Given the description of an element on the screen output the (x, y) to click on. 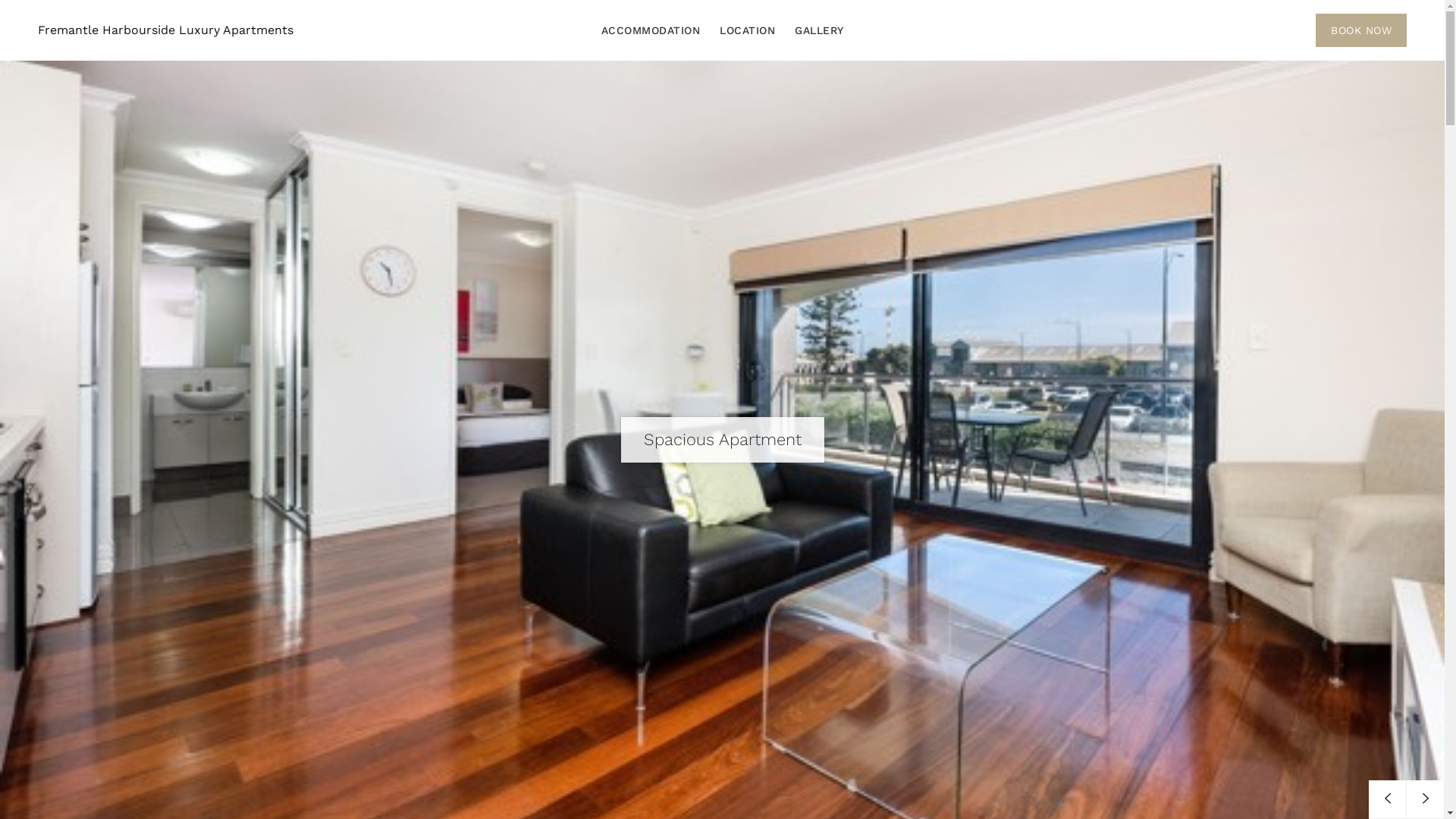
LOCATION Element type: text (746, 30)
ACCOMMODATION Element type: text (650, 30)
Spacious Apartment Element type: text (721, 439)
Fremantle Harbourside Luxury Apartments Element type: text (165, 29)
BOOK NOW Element type: text (1360, 30)
GALLERY Element type: text (818, 30)
